Given the description of an element on the screen output the (x, y) to click on. 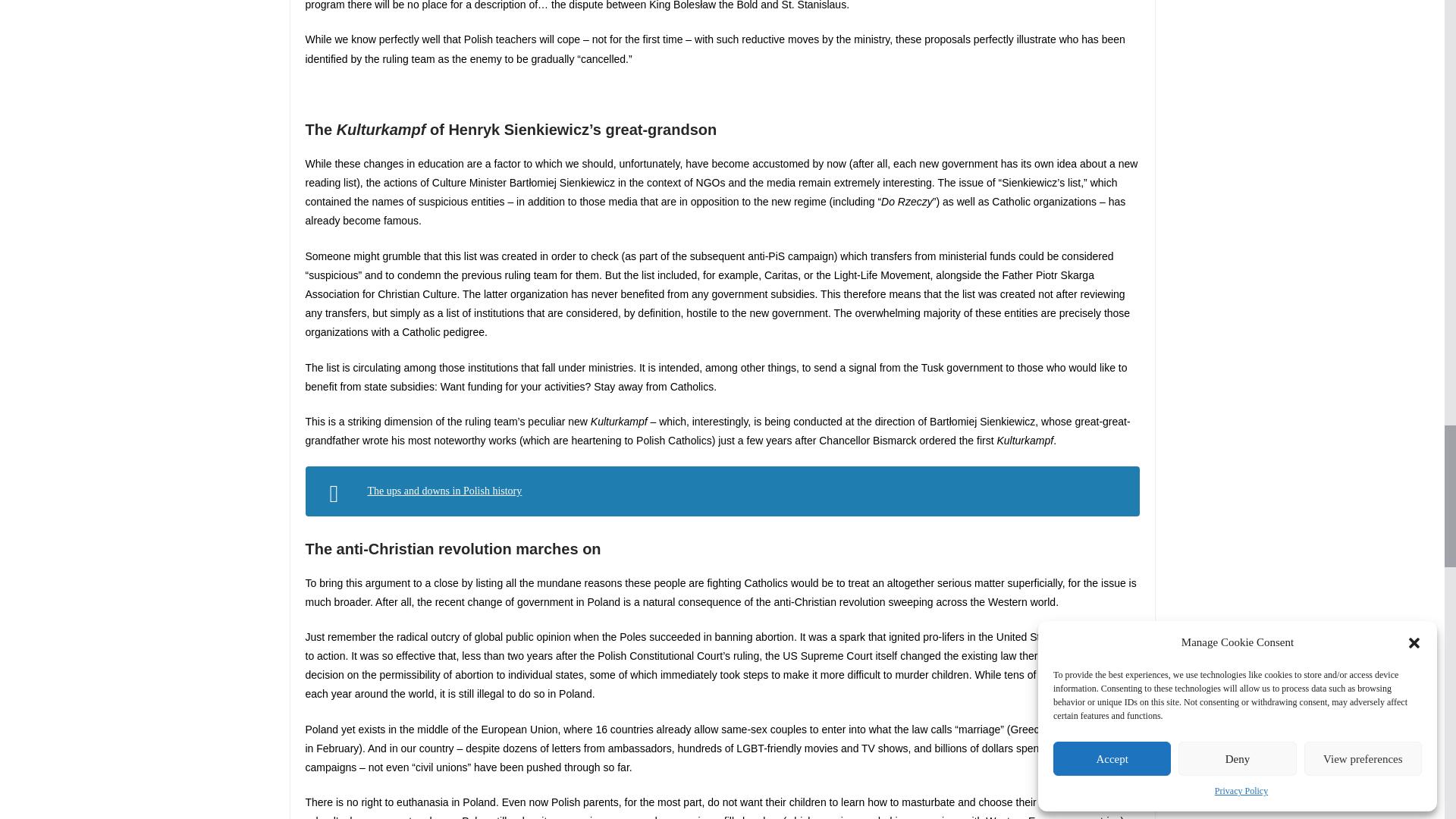
The ups and downs in Polish history (443, 490)
